Given the description of an element on the screen output the (x, y) to click on. 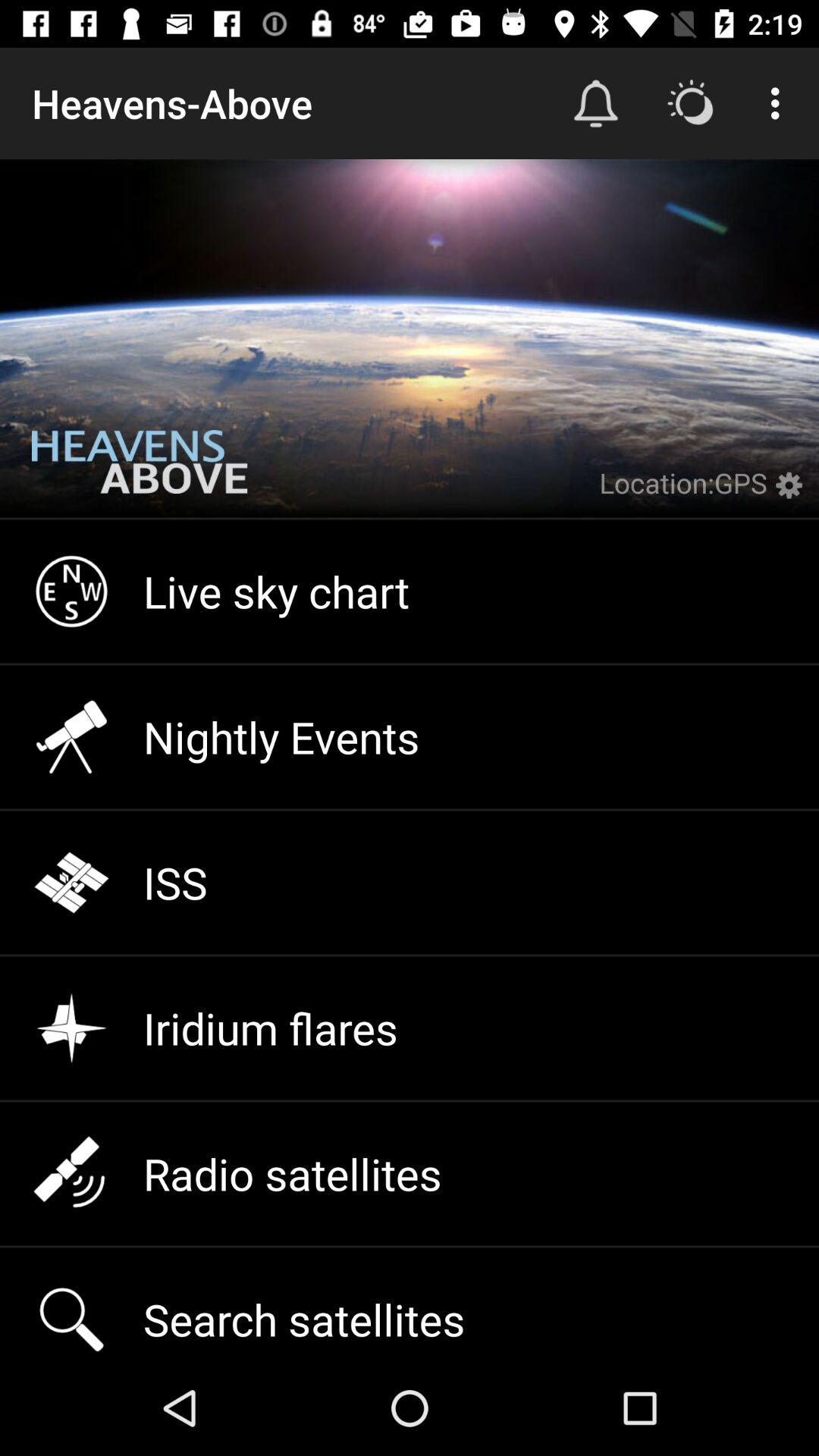
turn off item next to heavens-above app (595, 103)
